Given the description of an element on the screen output the (x, y) to click on. 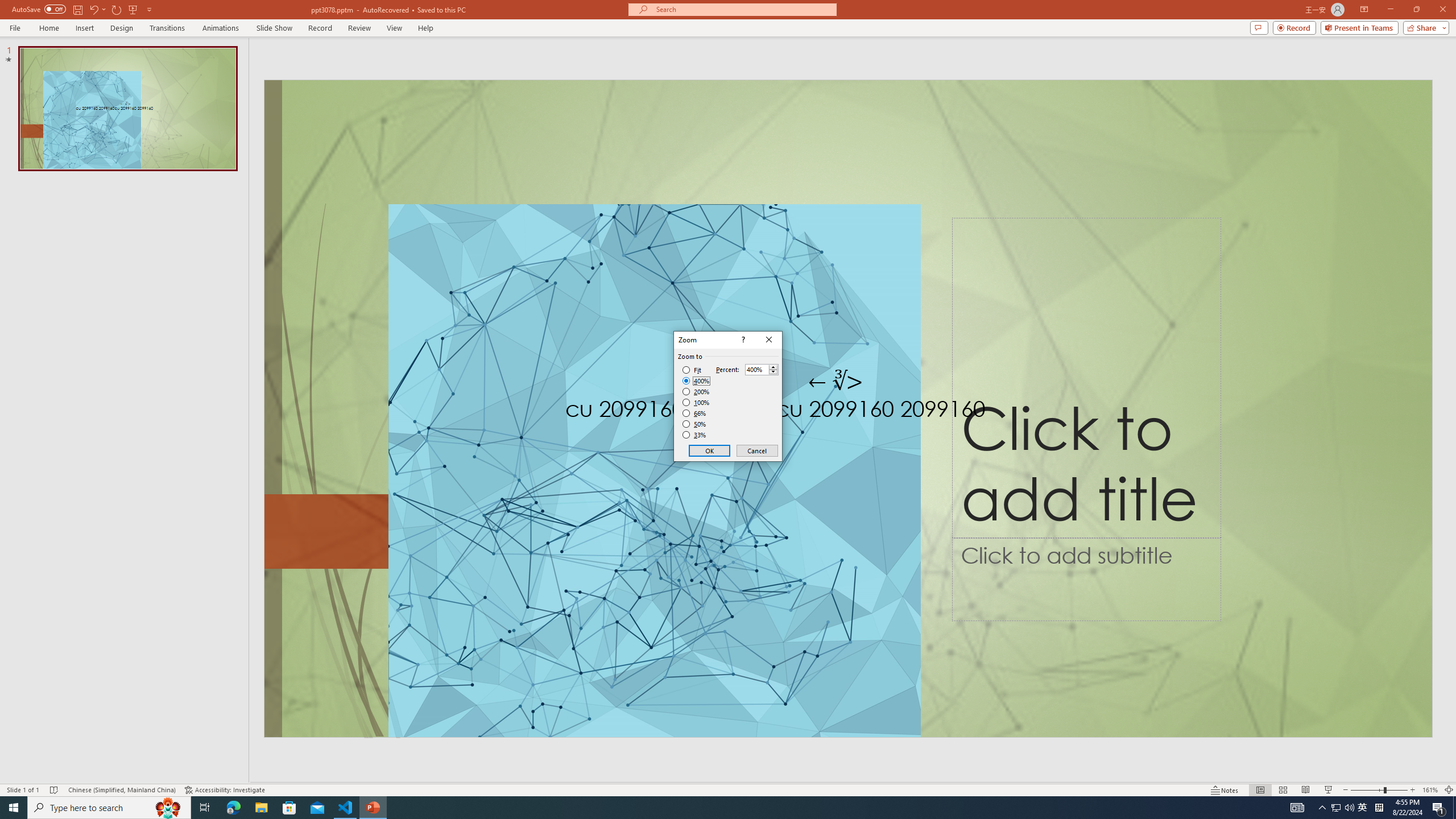
Zoom 161% (1430, 790)
Percent (761, 369)
